Given the description of an element on the screen output the (x, y) to click on. 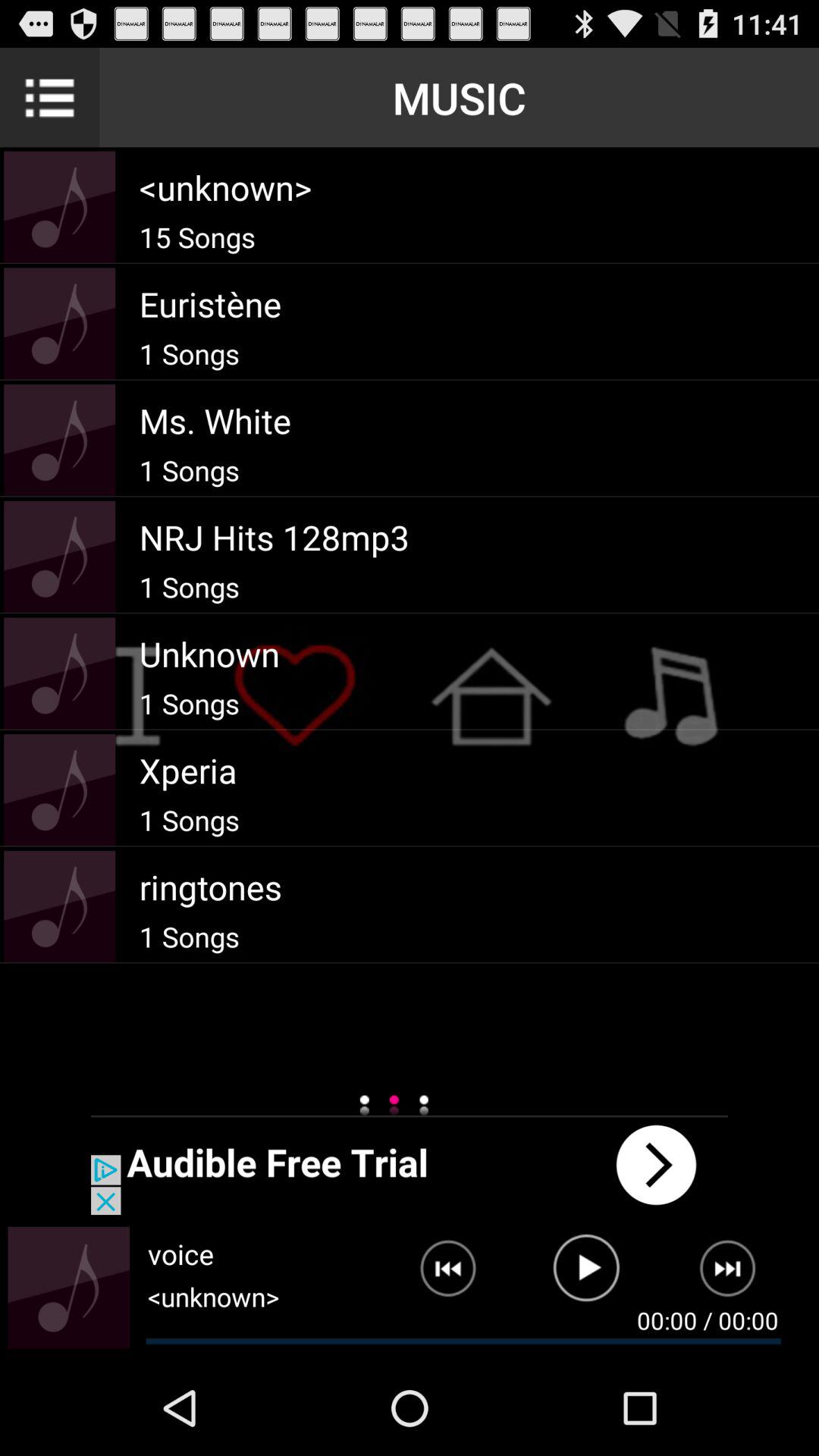
skip (737, 1274)
